Given the description of an element on the screen output the (x, y) to click on. 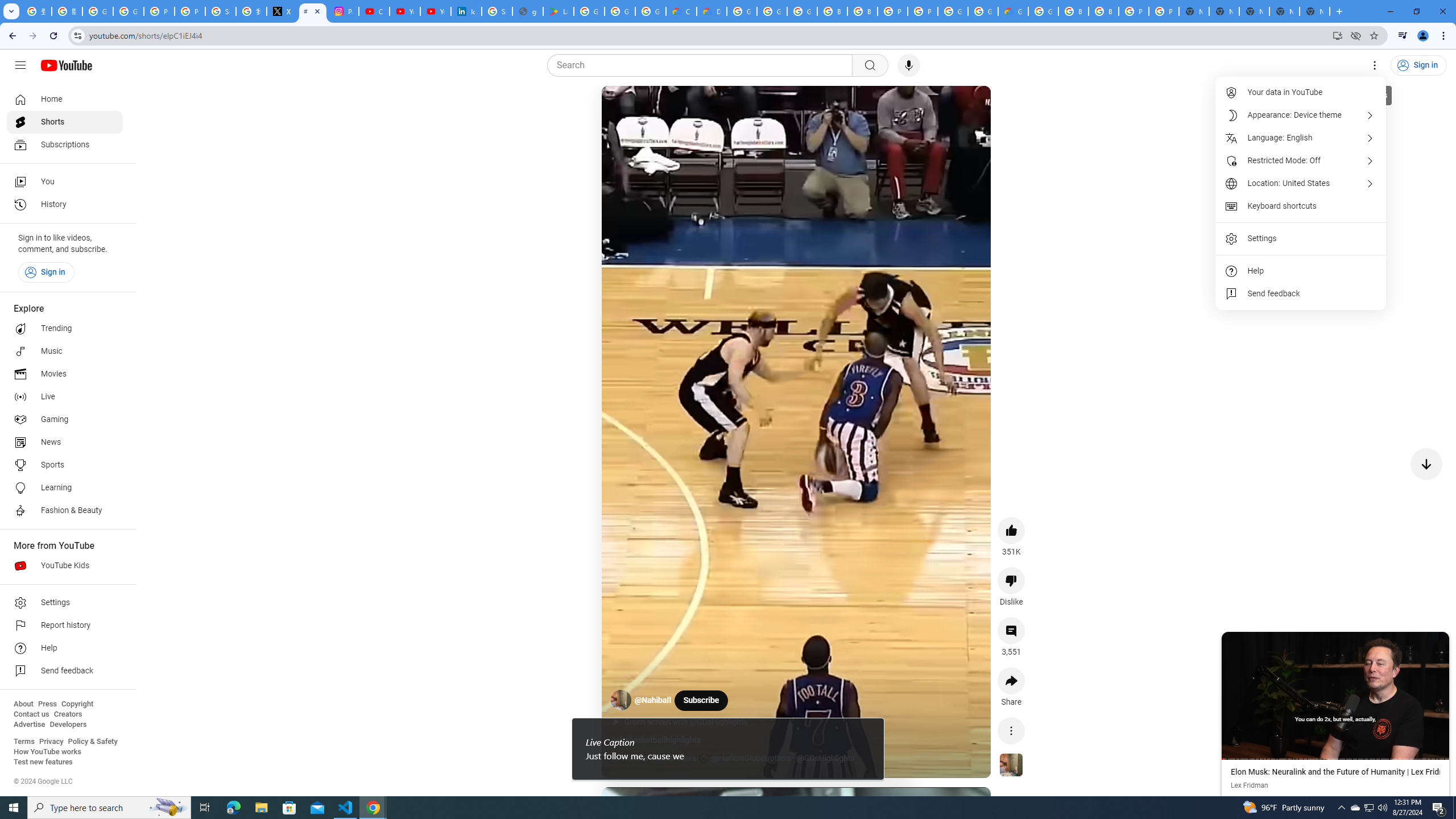
Google Cloud Platform (952, 11)
Keyboard shortcuts (1300, 205)
Copyright (77, 703)
Live (64, 396)
Movies (64, 373)
Subscribe (701, 700)
Google Workspace - Specific Terms (619, 11)
Browse Chrome as a guest - Computer - Google Chrome Help (1072, 11)
Learning (64, 487)
Browse Chrome as a guest - Computer - Google Chrome Help (832, 11)
like this video along with 351K other people (1011, 530)
